Given the description of an element on the screen output the (x, y) to click on. 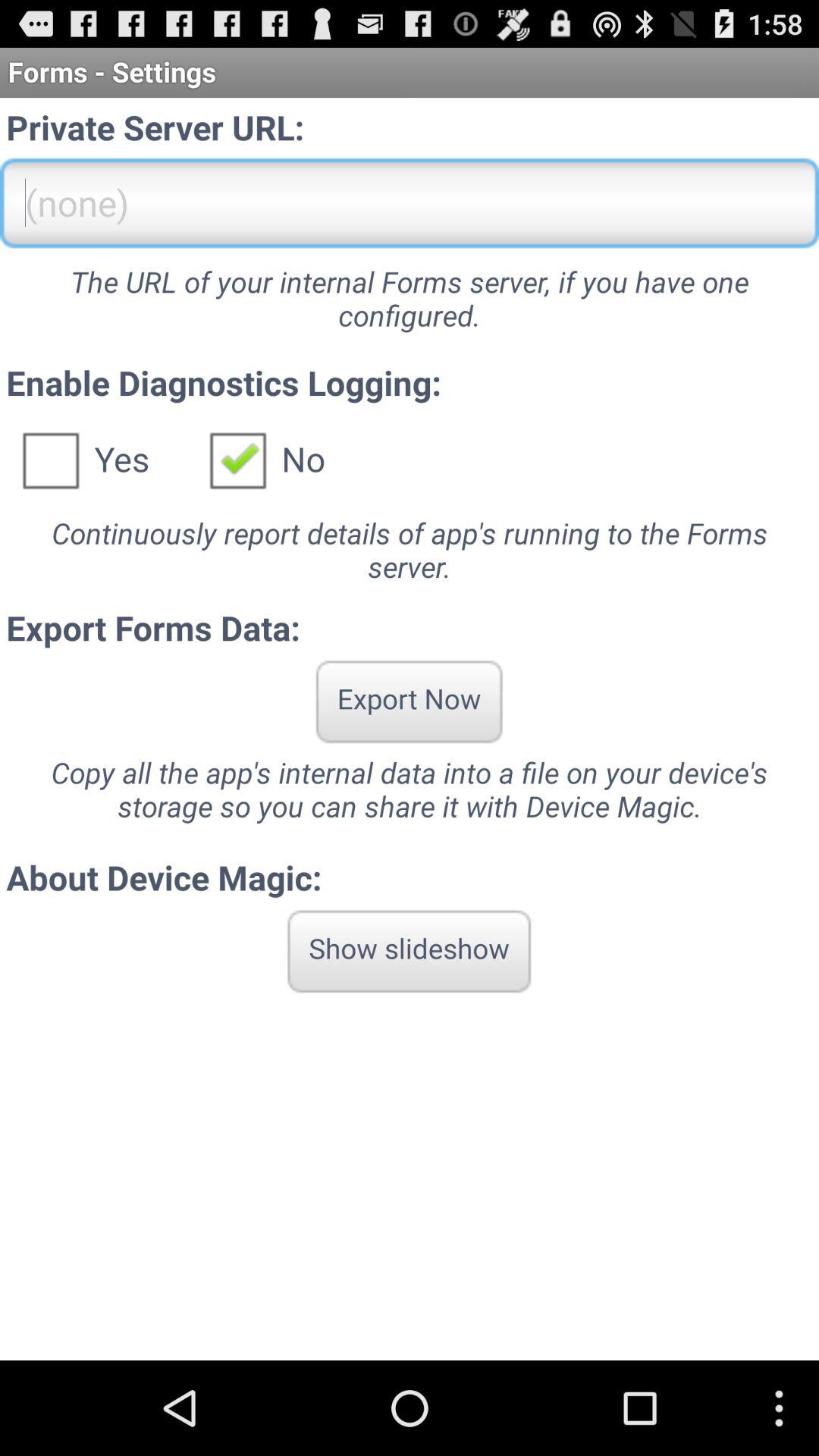
select export now (409, 701)
